Given the description of an element on the screen output the (x, y) to click on. 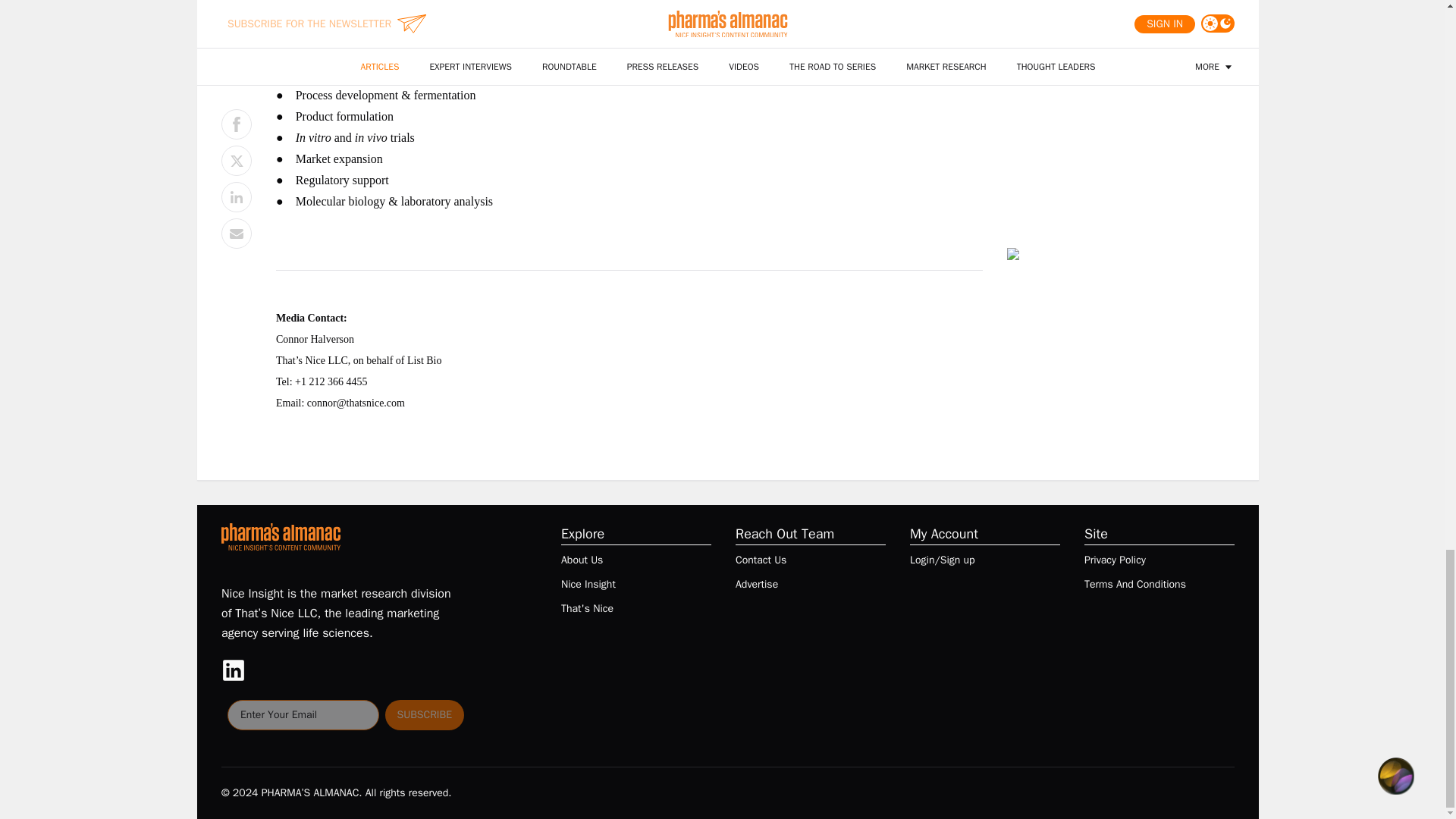
About Us (581, 559)
SUBSCRIBE (424, 715)
Nice Insight (587, 584)
